Given the description of an element on the screen output the (x, y) to click on. 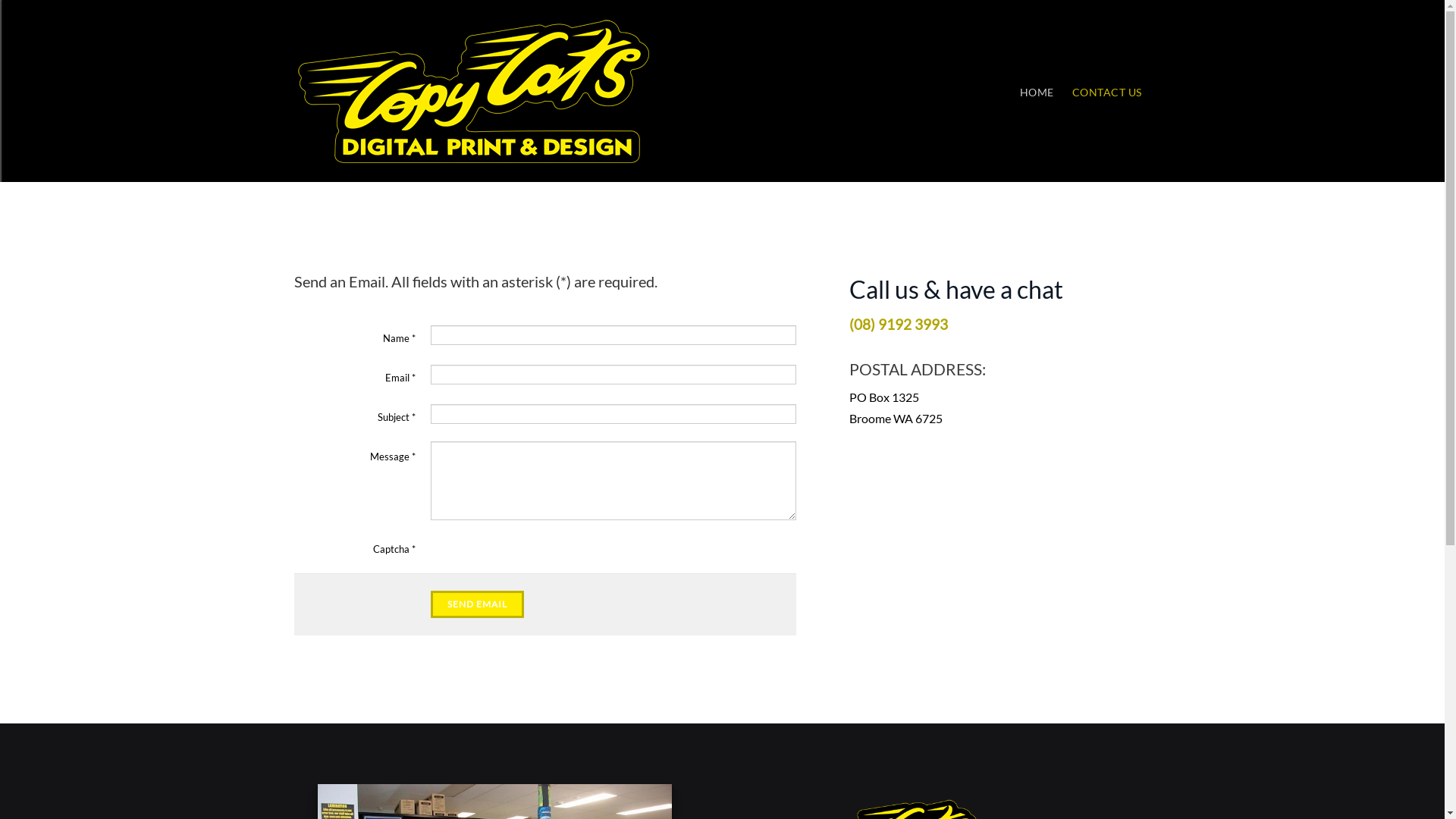
CONTACT US Element type: text (1107, 90)
HOME Element type: text (1036, 90)
SEND EMAIL Element type: text (477, 604)
Copy Cats Digital Printing Design | Broome Printers Element type: hover (472, 90)
